Given the description of an element on the screen output the (x, y) to click on. 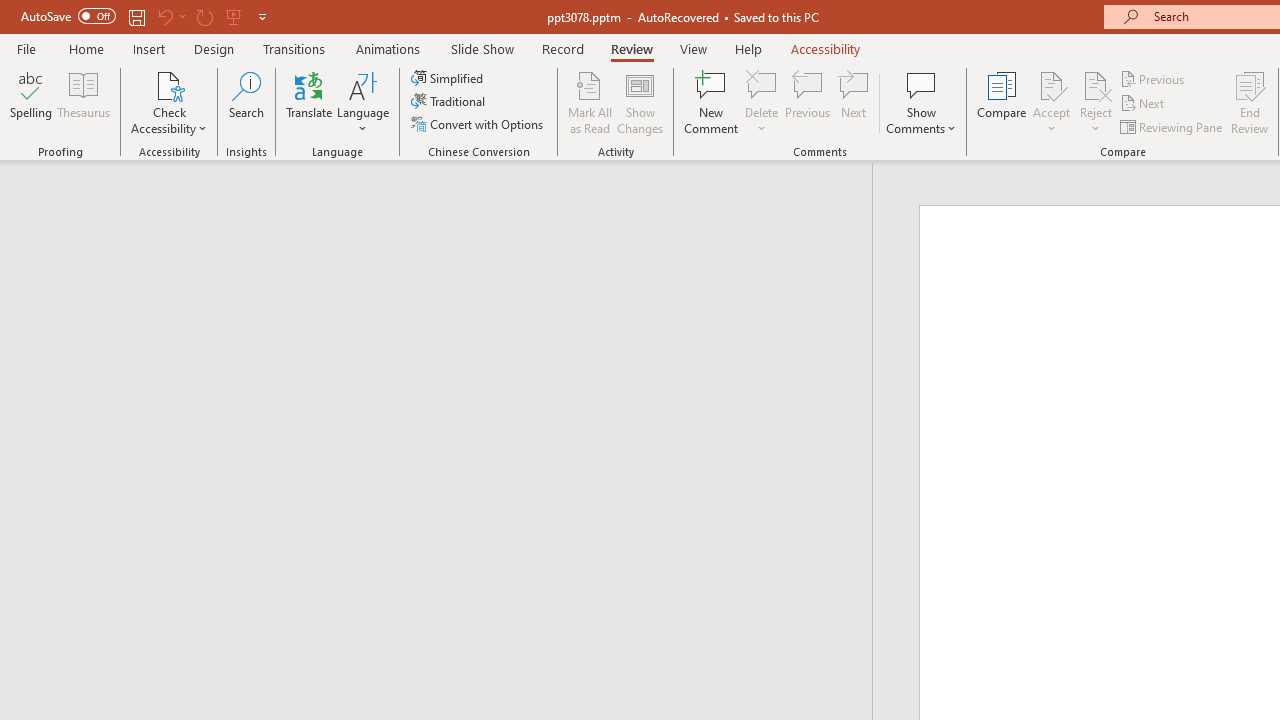
Convert with Options... (479, 124)
Thesaurus... (83, 102)
Outline (445, 202)
Next (1144, 103)
Mark All as Read (589, 102)
